Given the description of an element on the screen output the (x, y) to click on. 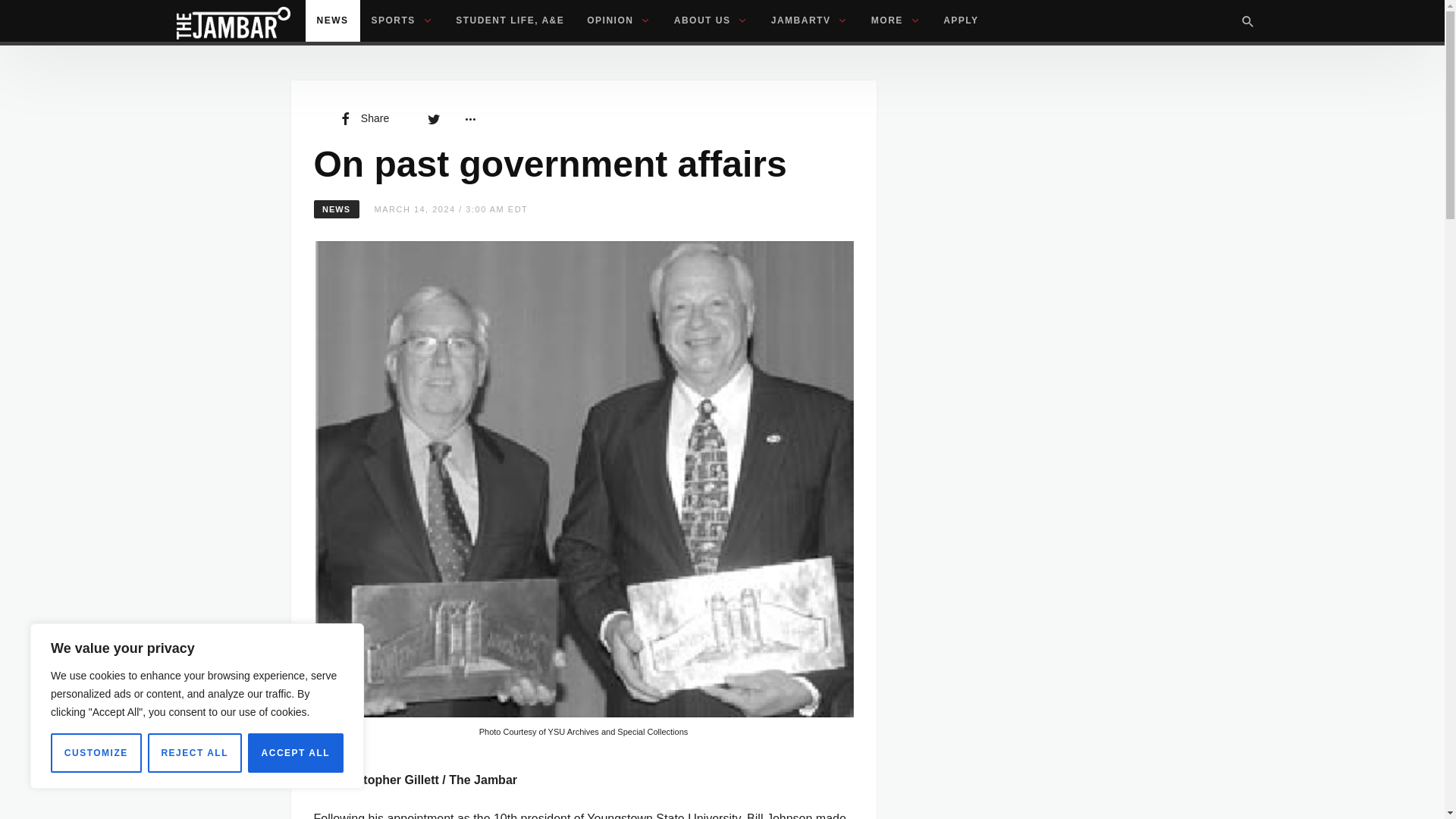
NEWS (331, 20)
REJECT ALL (194, 753)
SPORTS (401, 20)
MORE (895, 20)
JAMBARTV (810, 20)
ACCEPT ALL (295, 753)
ABOUT US (711, 20)
CUSTOMIZE (95, 753)
Share on Twitter (433, 118)
Share on Facebook (363, 118)
More (469, 118)
View all posts in News (336, 208)
OPINION (618, 20)
